Given the description of an element on the screen output the (x, y) to click on. 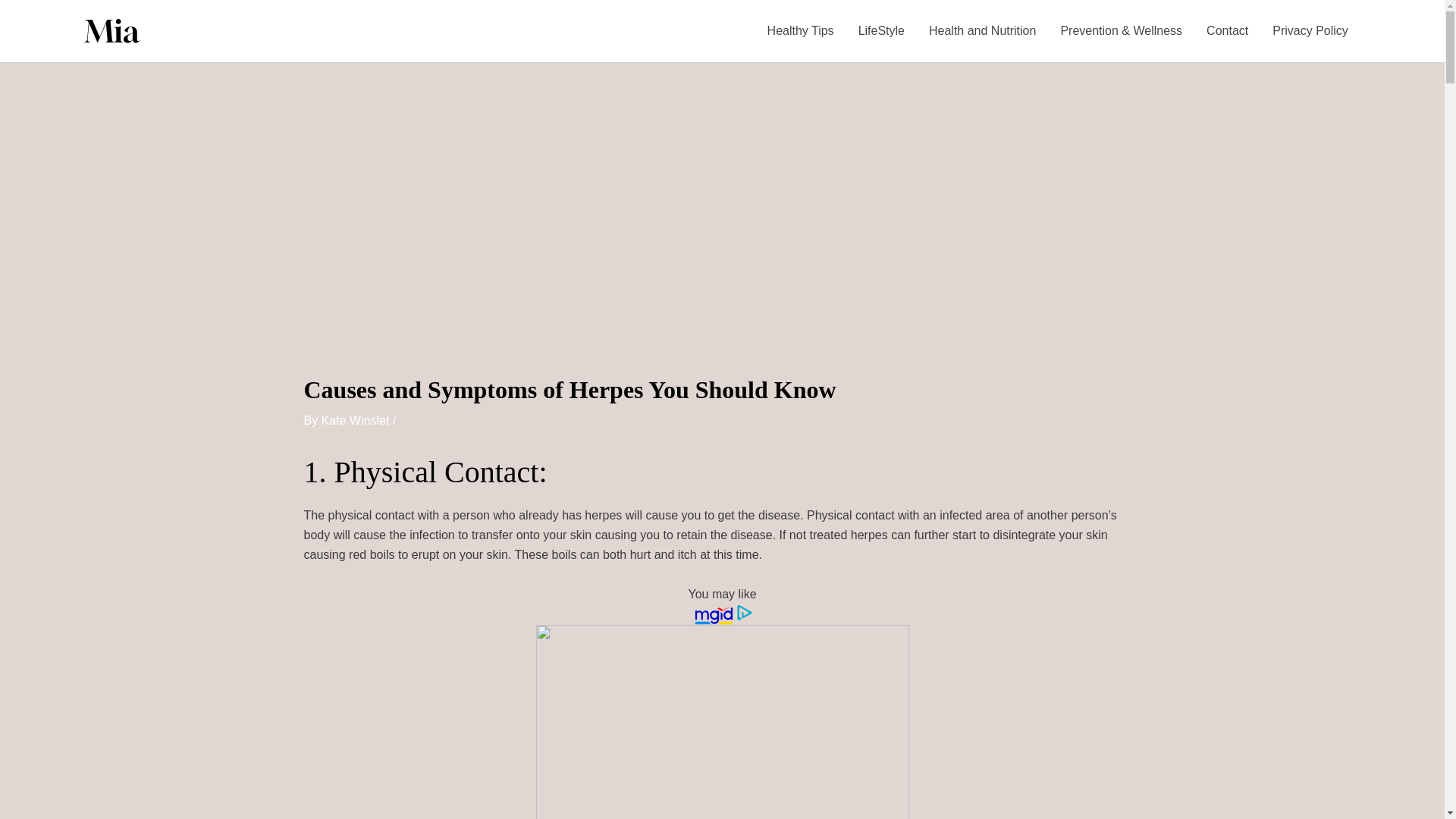
Contact (1226, 30)
LifeStyle (881, 30)
View all posts by Kate Winslet (357, 420)
Privacy Policy (1309, 30)
Healthy Tips (800, 30)
Health and Nutrition (982, 30)
Kate Winslet (357, 420)
